Given the description of an element on the screen output the (x, y) to click on. 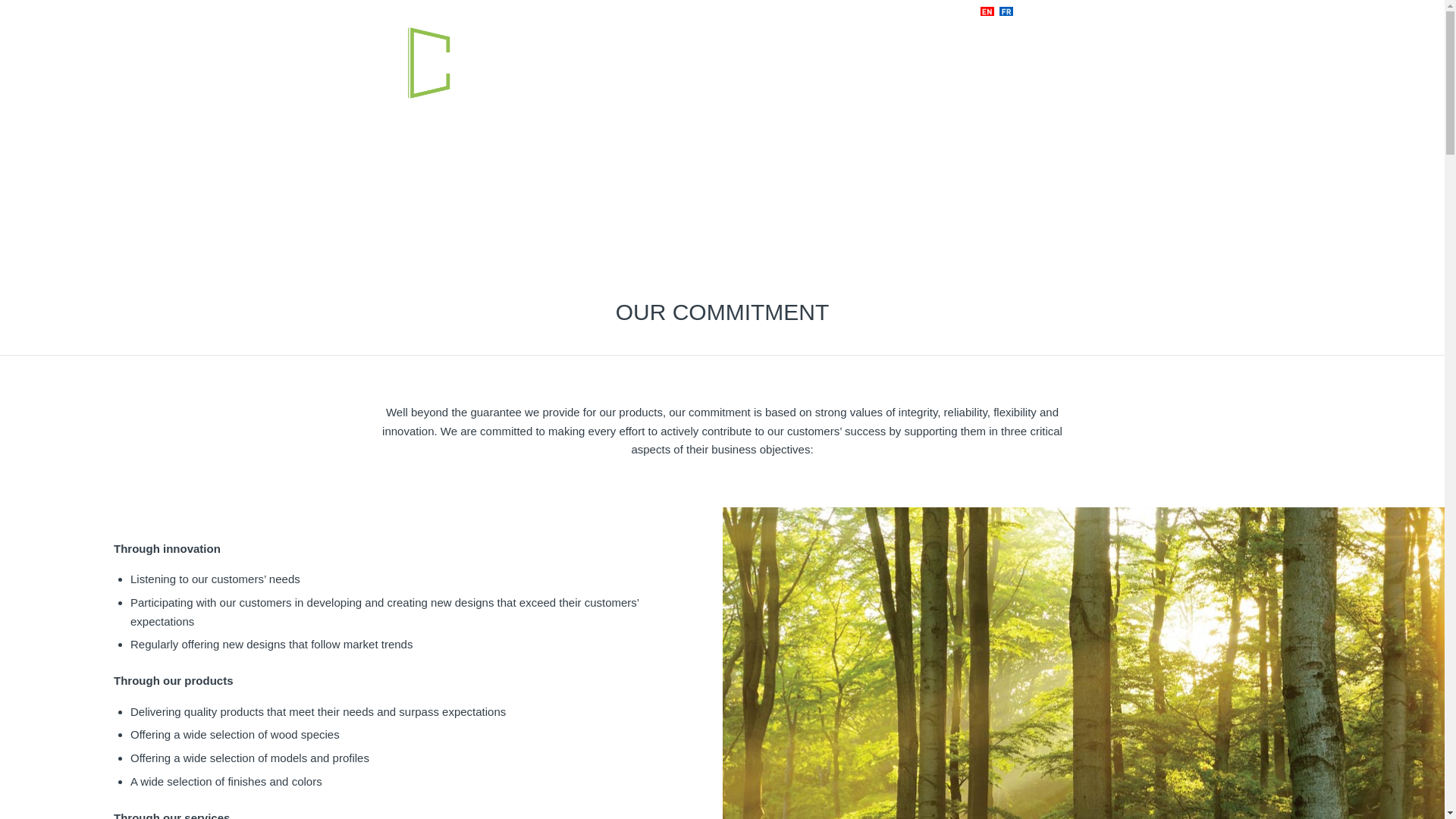
Collections (778, 63)
Facebook (1032, 11)
Who we are (703, 63)
Request a price quote (938, 63)
English (986, 10)
Home (896, 11)
Mail (1056, 11)
Contact us (946, 11)
